Given the description of an element on the screen output the (x, y) to click on. 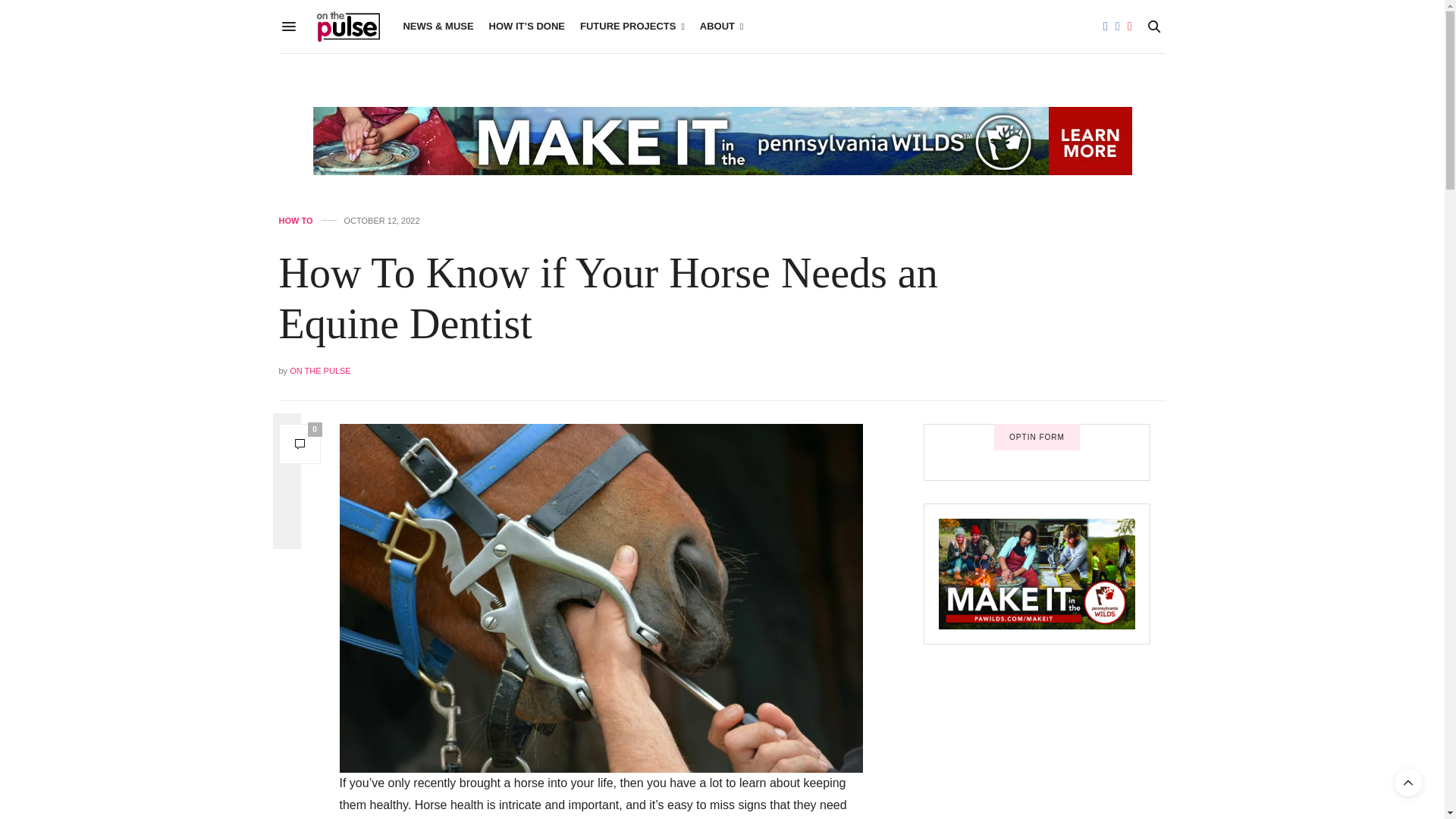
Posts by On the PULSE (319, 370)
FUTURE PROJECTS (631, 26)
0 (299, 444)
On the PULSE (348, 26)
ON THE PULSE (319, 370)
HOW TO (296, 221)
